Given the description of an element on the screen output the (x, y) to click on. 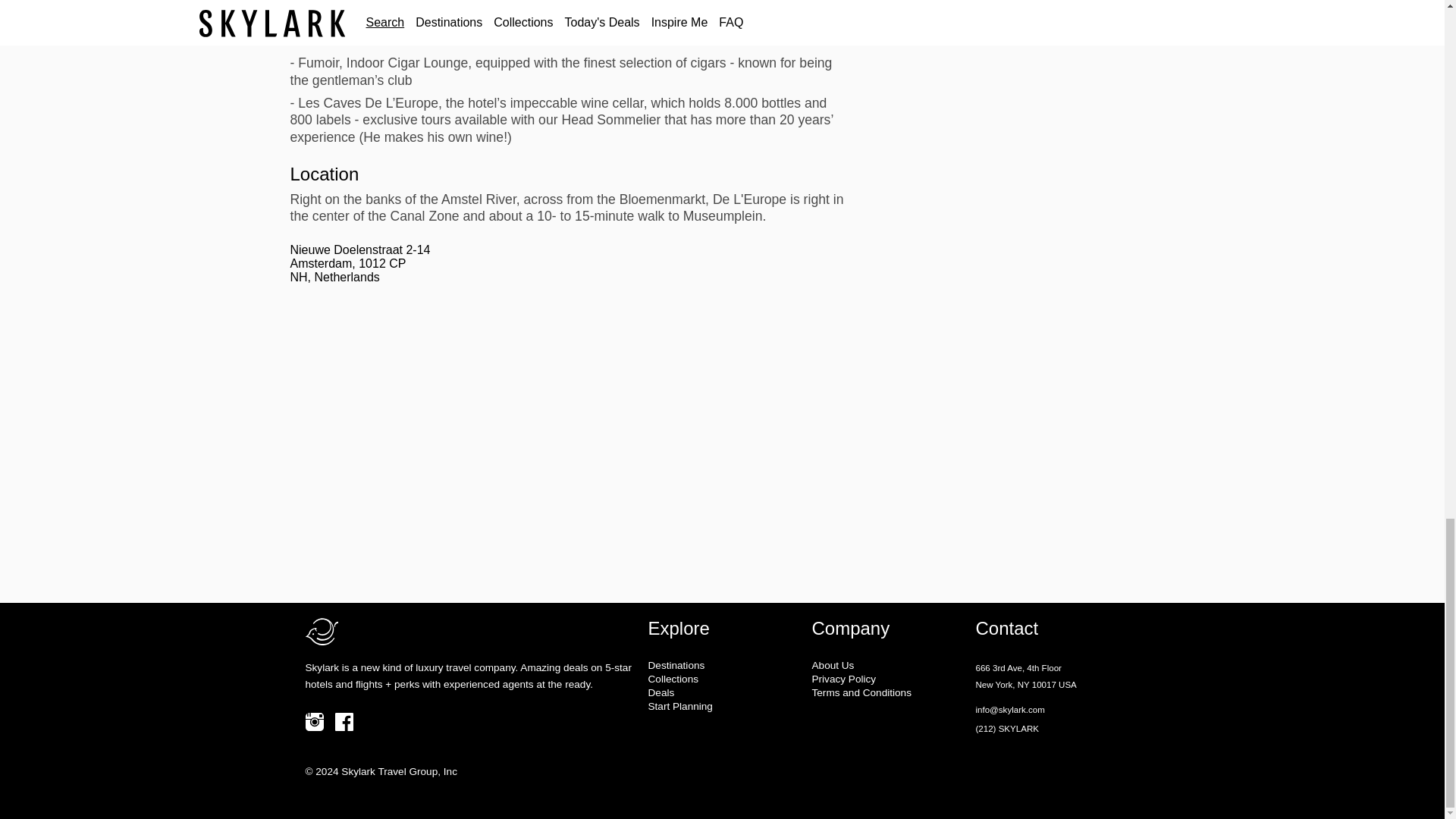
Deals (723, 692)
Collections (723, 678)
Start Planning (723, 706)
Destinations (723, 665)
